Given the description of an element on the screen output the (x, y) to click on. 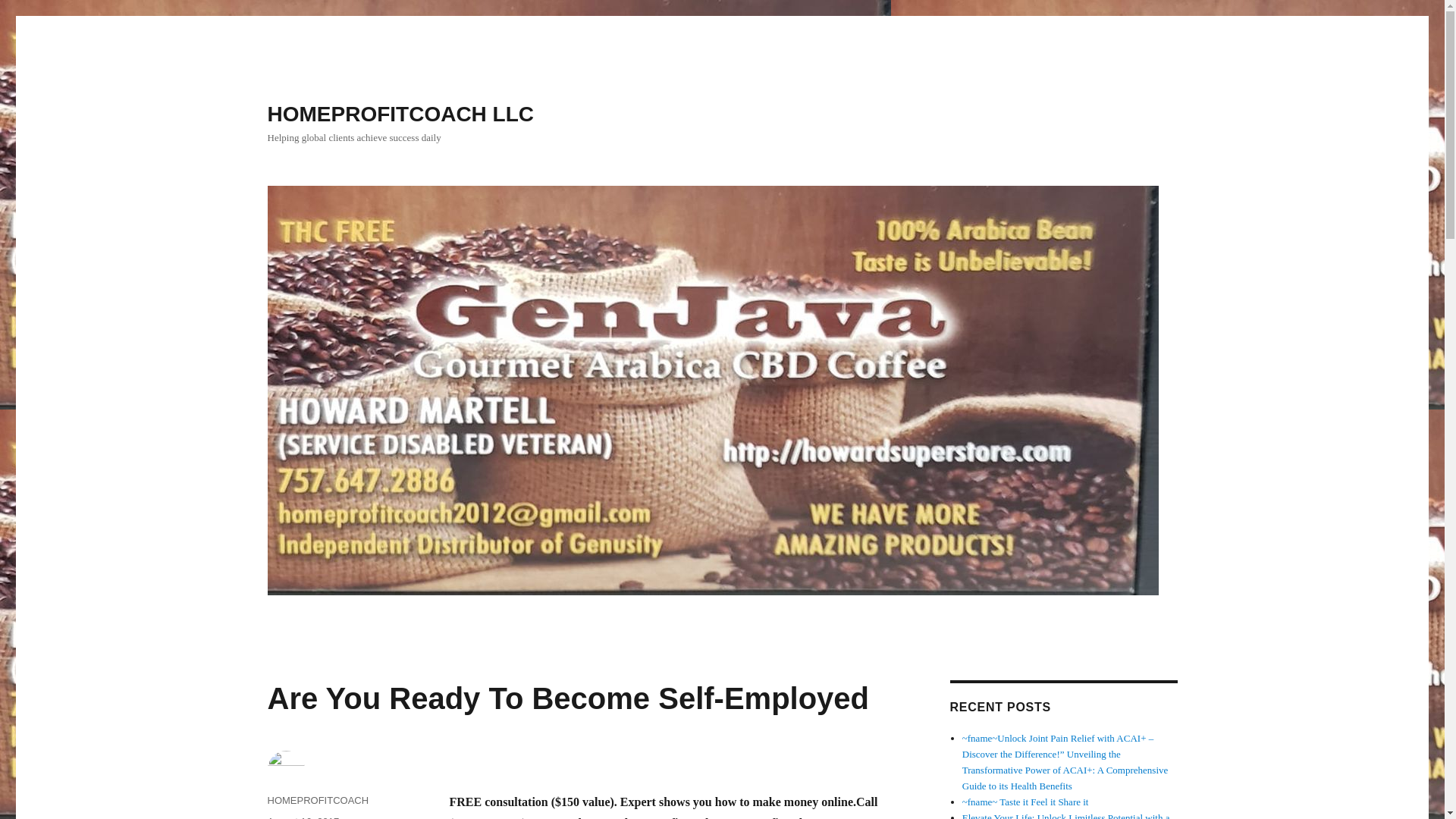
HOMEPROFITCOACH (317, 799)
HOMEPROFITCOACH LLC (400, 114)
August 16, 2017 (302, 817)
